Given the description of an element on the screen output the (x, y) to click on. 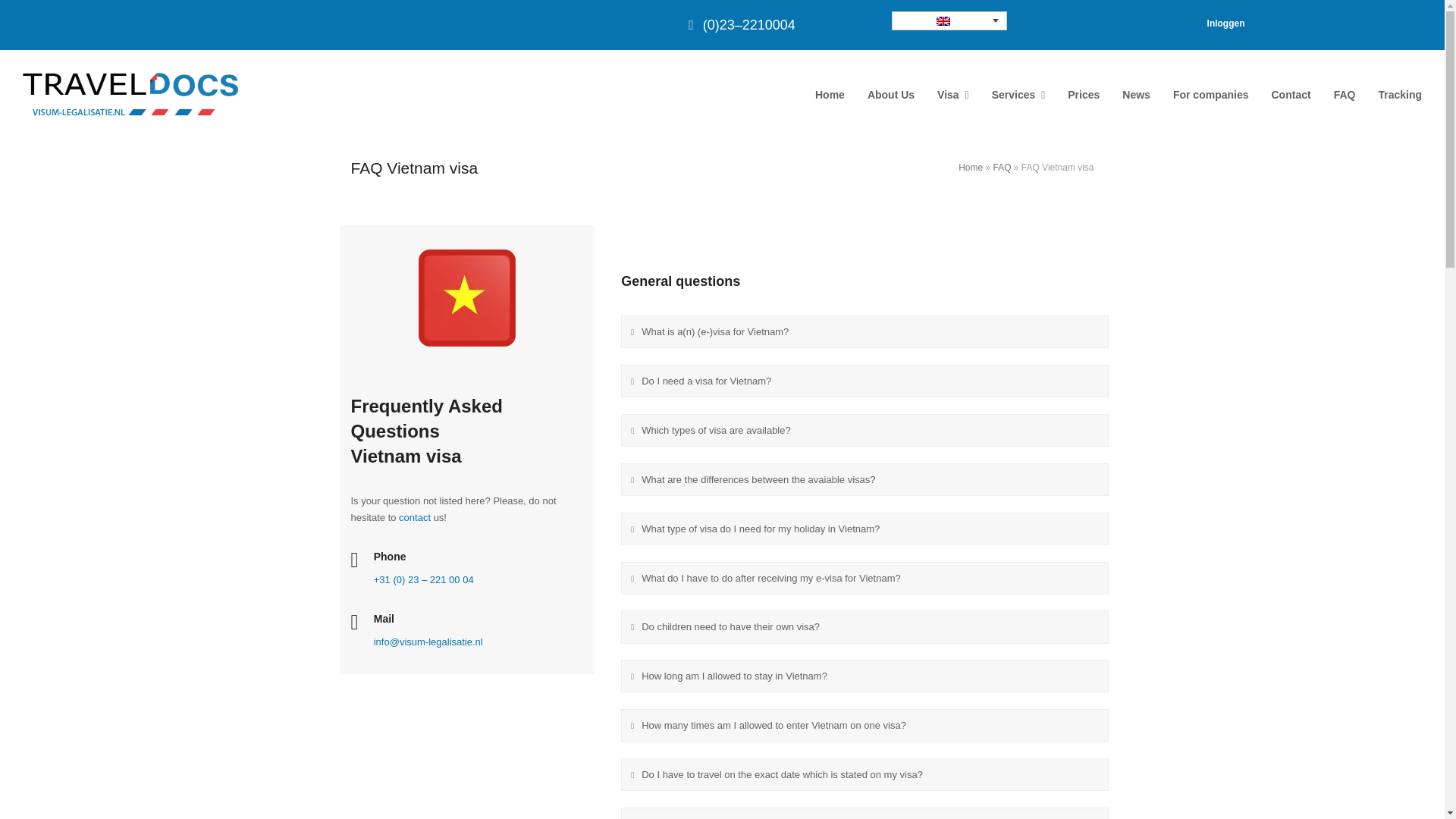
Home (829, 95)
Services (1018, 95)
Inloggen (1225, 23)
About Us (891, 95)
Visa (952, 95)
